Given the description of an element on the screen output the (x, y) to click on. 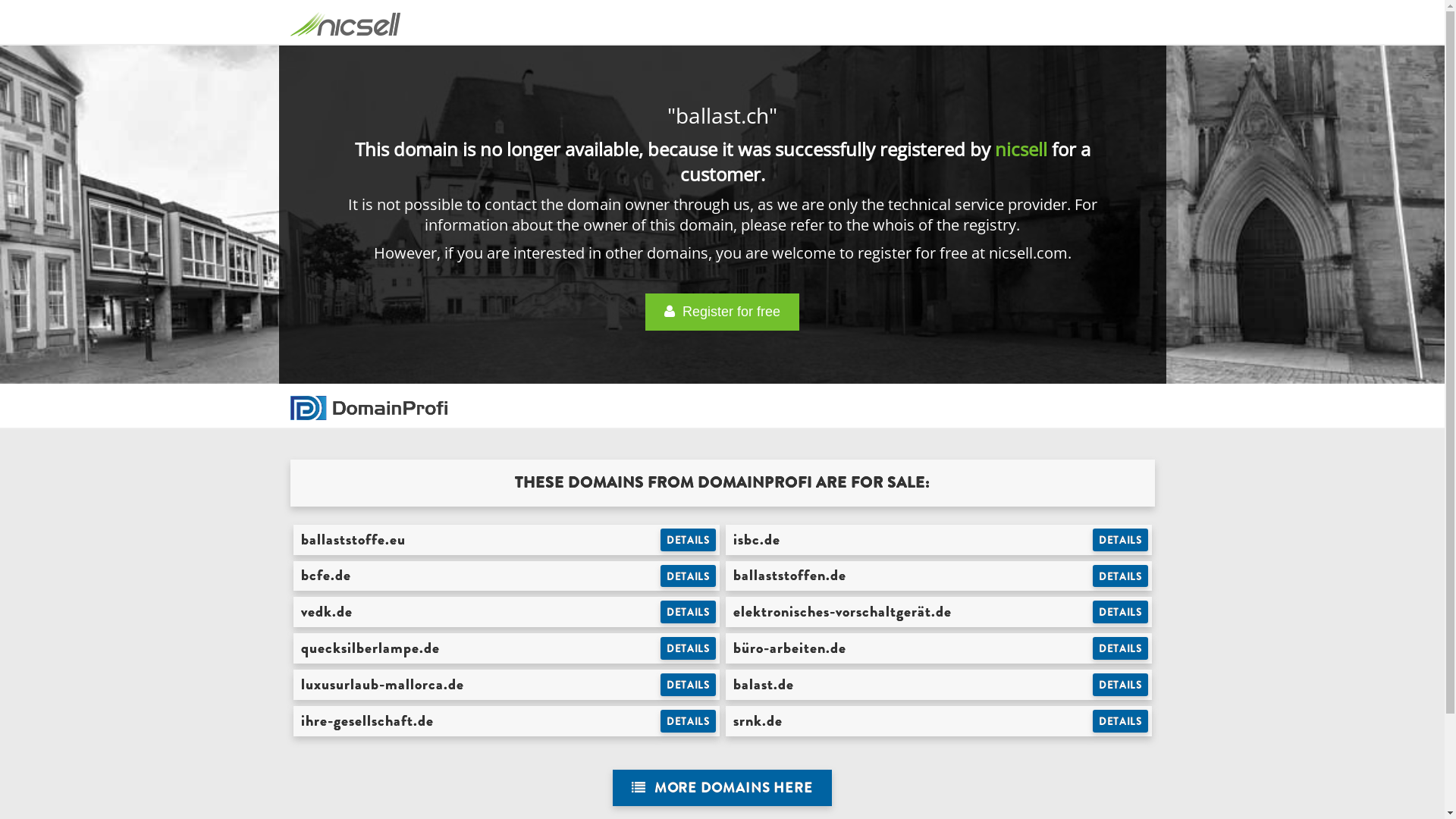
DETAILS Element type: text (1120, 611)
nicsell Element type: text (1020, 148)
DETAILS Element type: text (1120, 684)
DETAILS Element type: text (1120, 575)
  MORE DOMAINS HERE Element type: text (721, 787)
DETAILS Element type: text (687, 720)
DETAILS Element type: text (687, 575)
DETAILS Element type: text (687, 648)
DETAILS Element type: text (687, 611)
DETAILS Element type: text (1120, 648)
DETAILS Element type: text (1120, 539)
DETAILS Element type: text (1120, 720)
DETAILS Element type: text (687, 684)
  Register for free Element type: text (722, 311)
DETAILS Element type: text (687, 539)
